Given the description of an element on the screen output the (x, y) to click on. 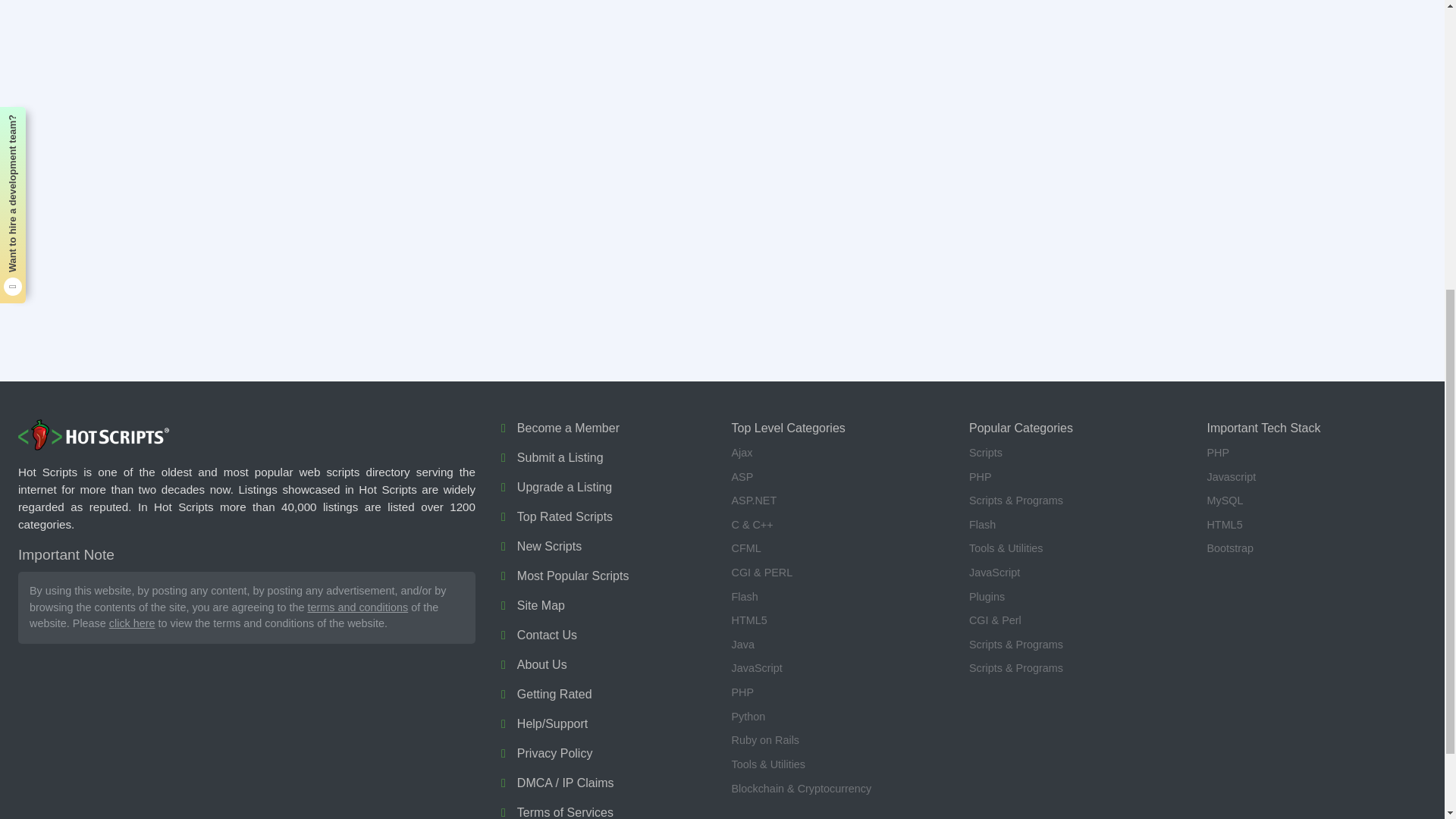
Hotscripts (93, 435)
